Given the description of an element on the screen output the (x, y) to click on. 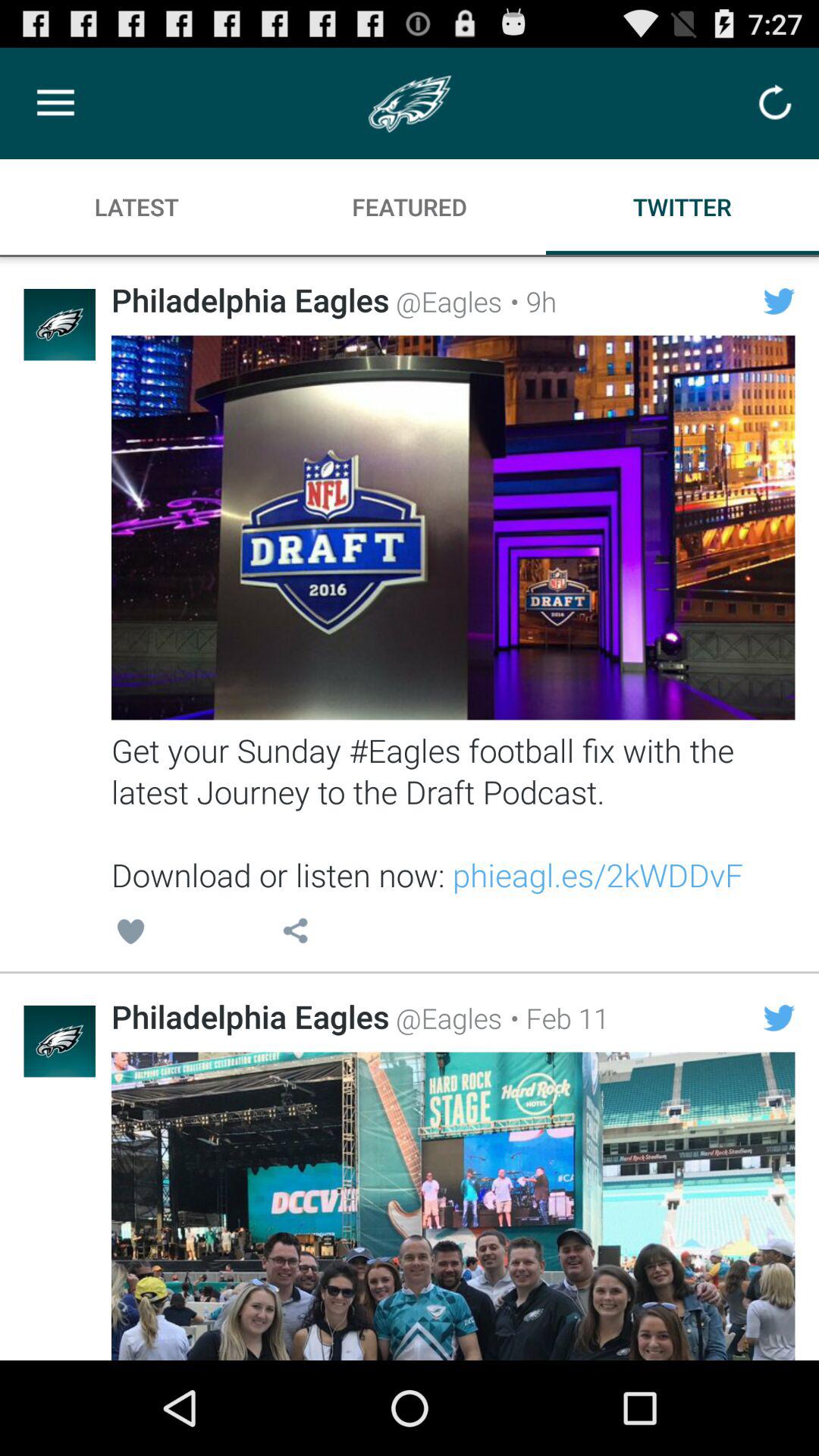
select item to the right of @eagles (555, 1017)
